Given the description of an element on the screen output the (x, y) to click on. 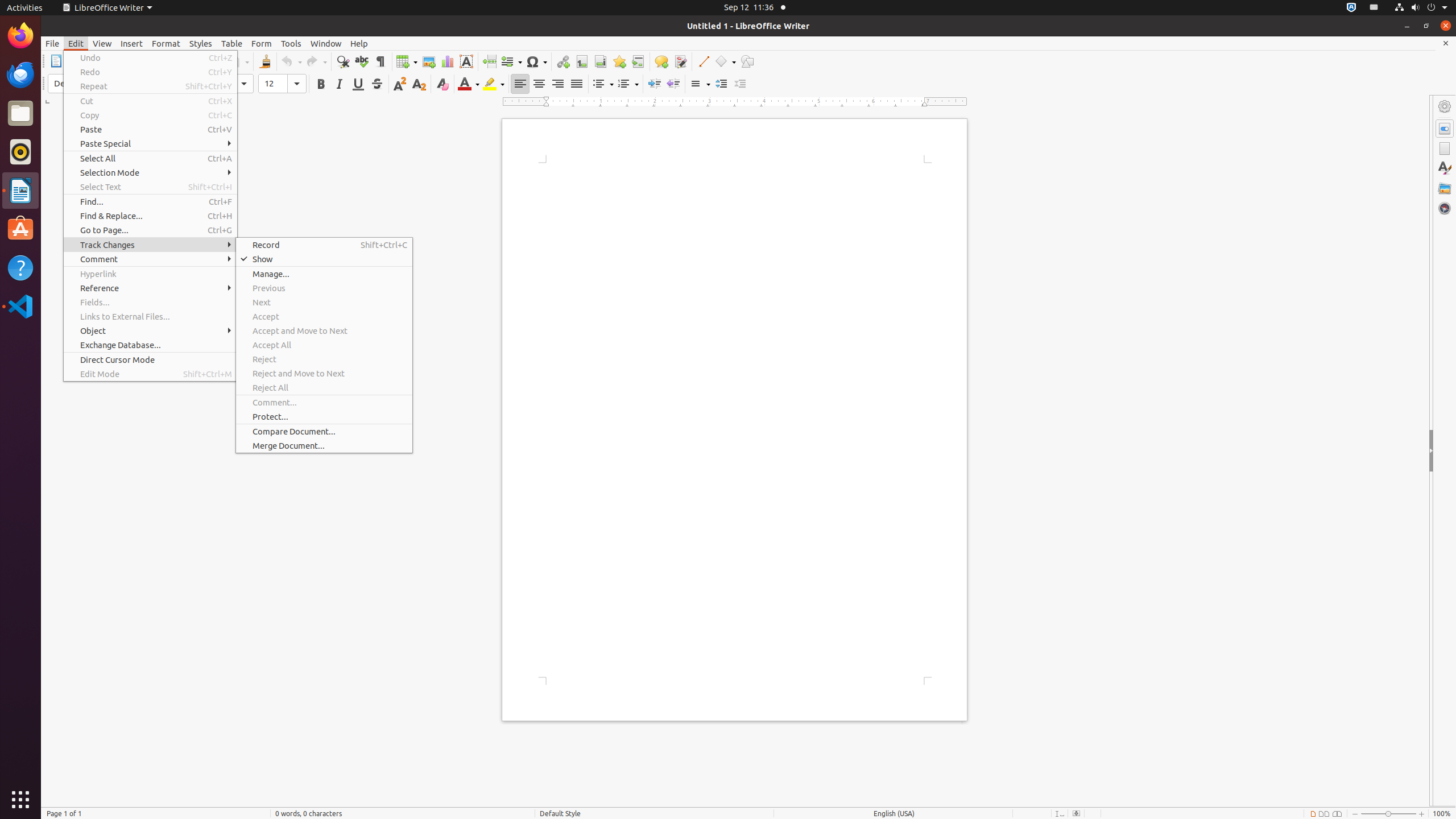
Page Break Element type: push-button (489, 61)
Insert Element type: menu (131, 43)
Redo Element type: push-button (315, 61)
Gallery Element type: radio-button (1444, 188)
Help Element type: push-button (20, 267)
